Given the description of an element on the screen output the (x, y) to click on. 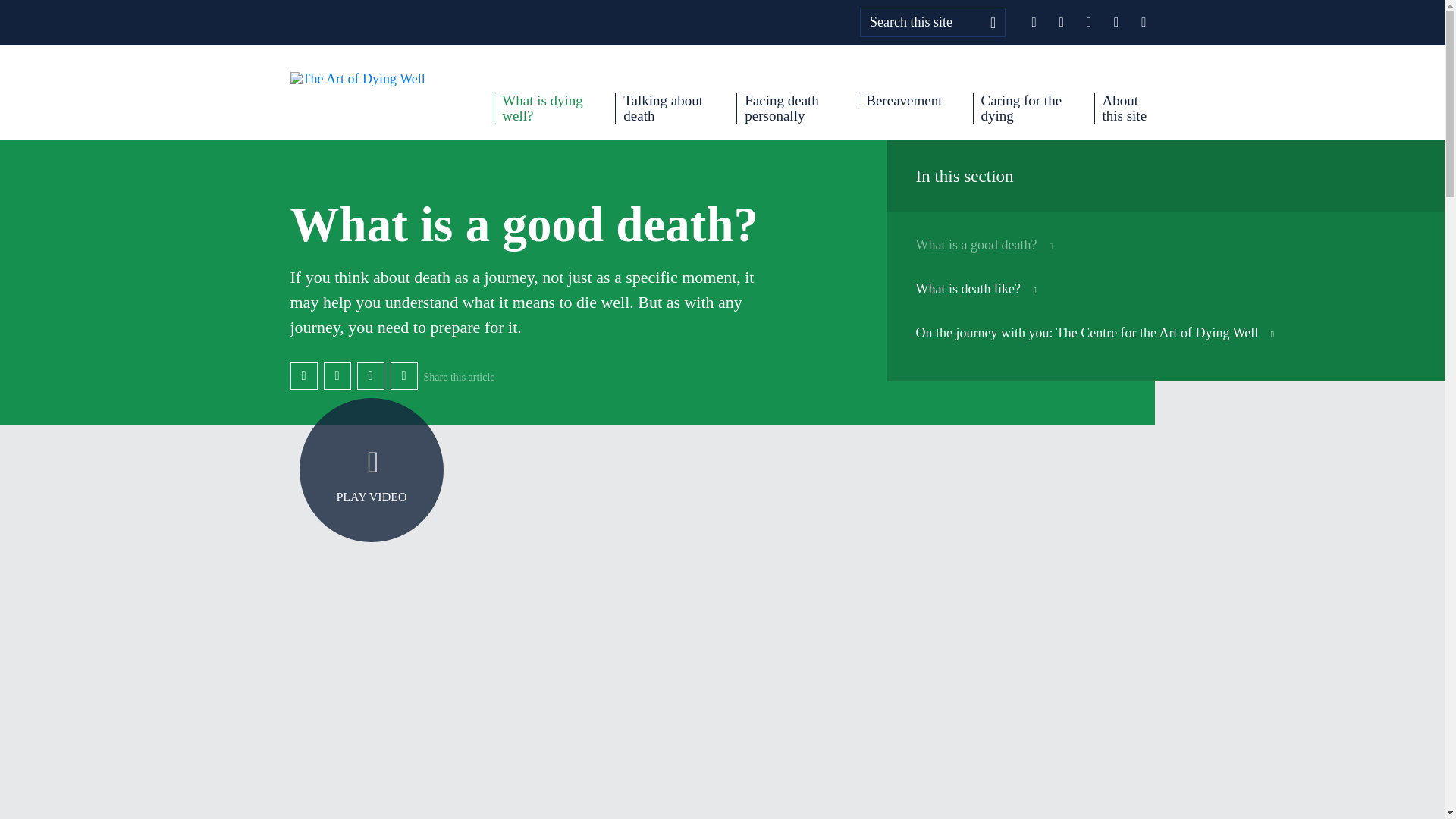
Talking about death (660, 108)
Bereavement (899, 100)
What is dying well? (539, 108)
Google Plus (370, 375)
Facing death personally (781, 108)
Caring for the dying (1017, 108)
E-Mail (403, 375)
Facebook (303, 375)
About this site (1123, 108)
Twitter (336, 375)
